Given the description of an element on the screen output the (x, y) to click on. 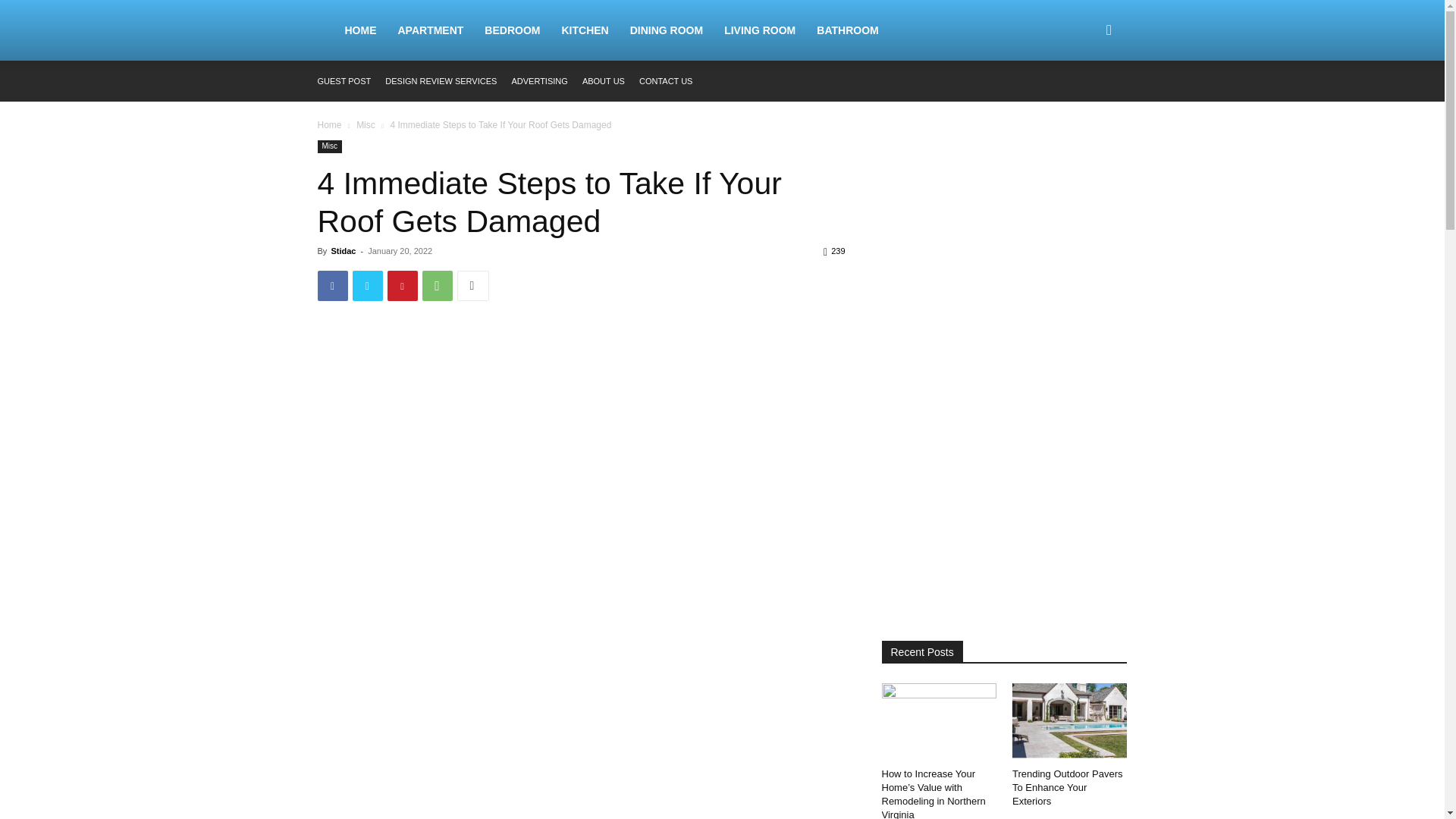
Stidac (342, 250)
BEDROOM (512, 30)
DESIGN REVIEW SERVICES (440, 80)
ADVERTISING (539, 80)
Twitter (366, 286)
WhatsApp (436, 286)
BATHROOM (847, 30)
Pinterest (401, 286)
Home (328, 124)
GUEST POST (344, 80)
